Given the description of an element on the screen output the (x, y) to click on. 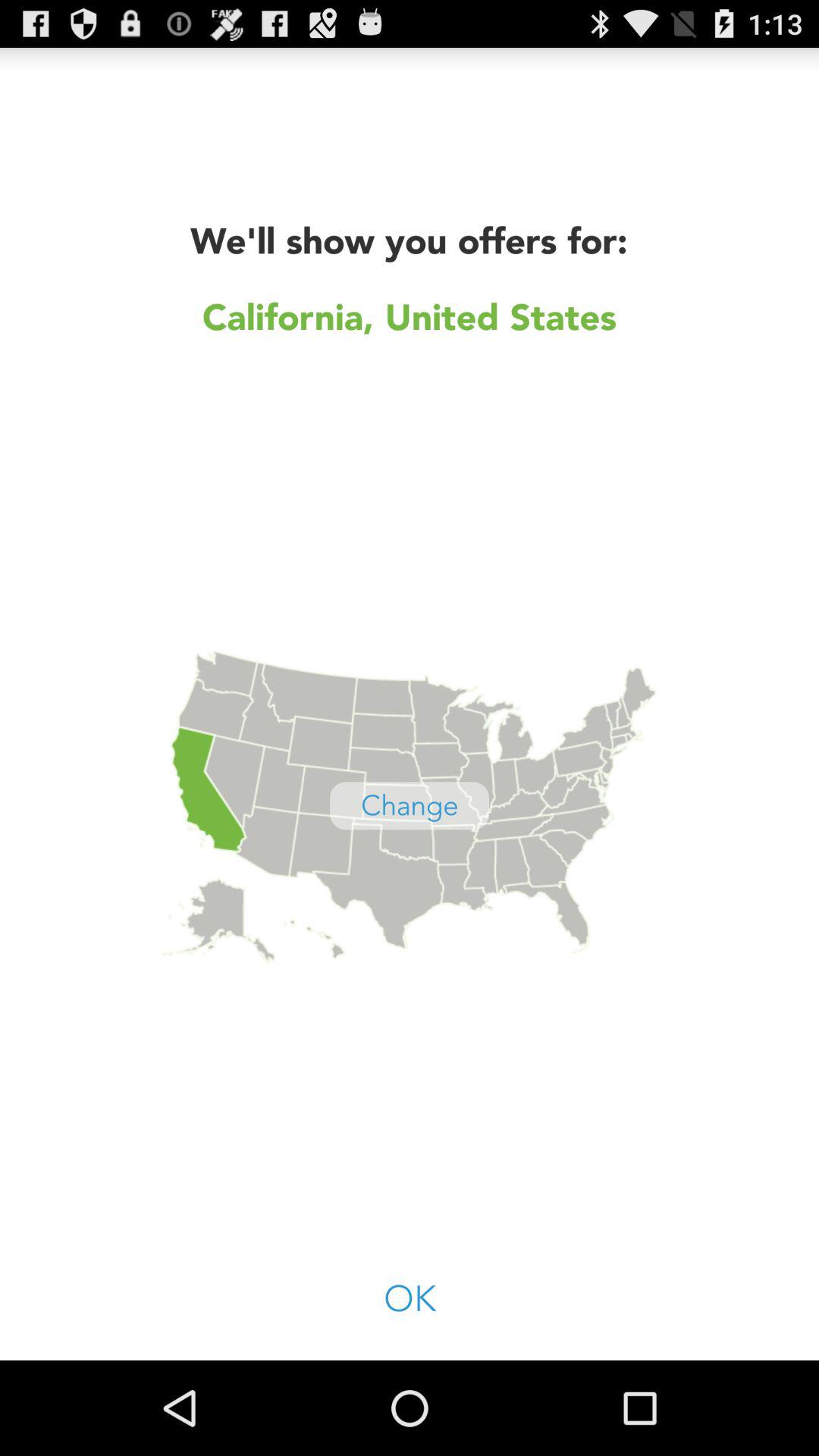
click ok item (409, 1300)
